Given the description of an element on the screen output the (x, y) to click on. 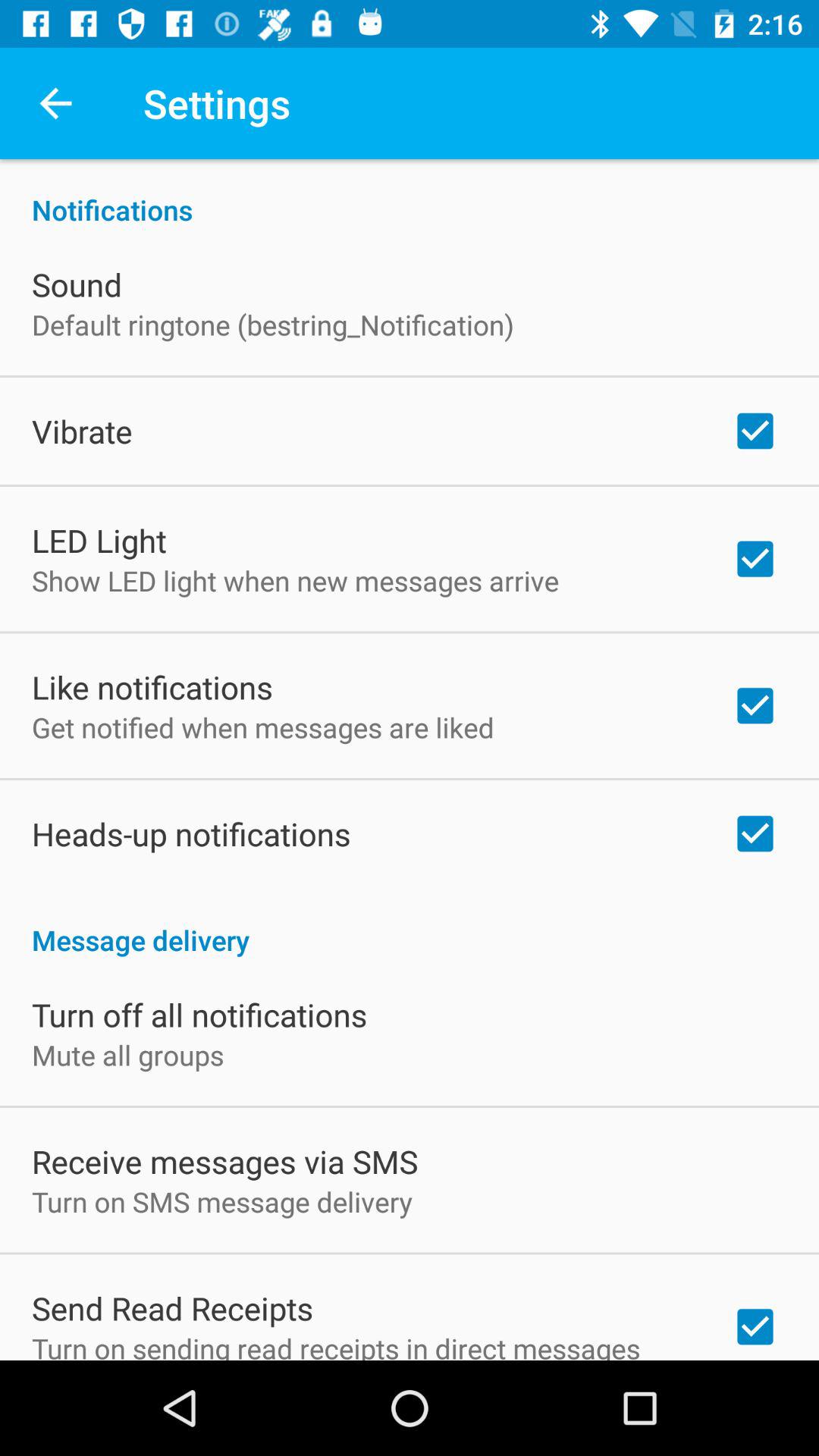
tap default ringtone (bestring_notification) item (272, 324)
